Given the description of an element on the screen output the (x, y) to click on. 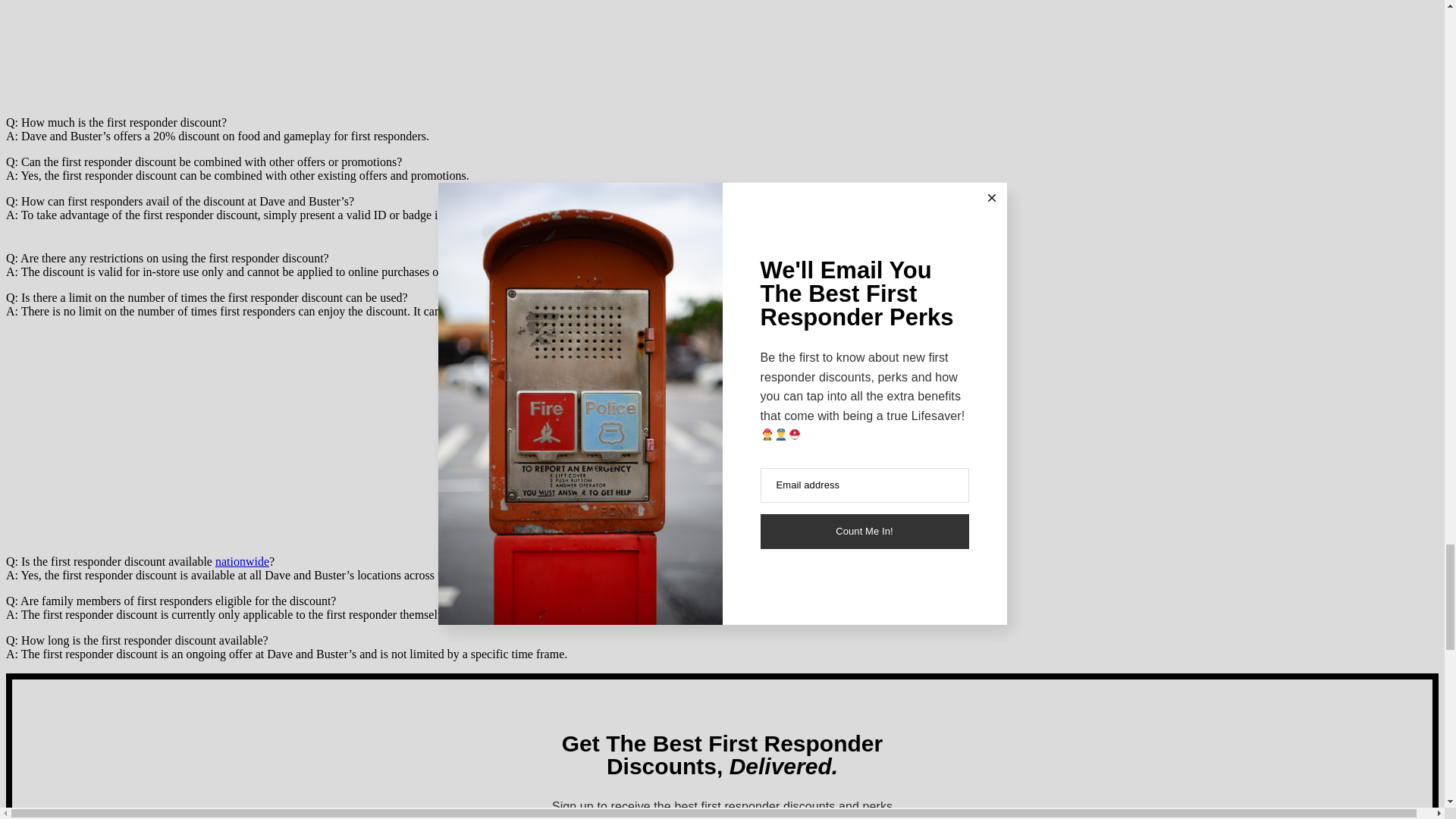
nationwide (242, 561)
